Given the description of an element on the screen output the (x, y) to click on. 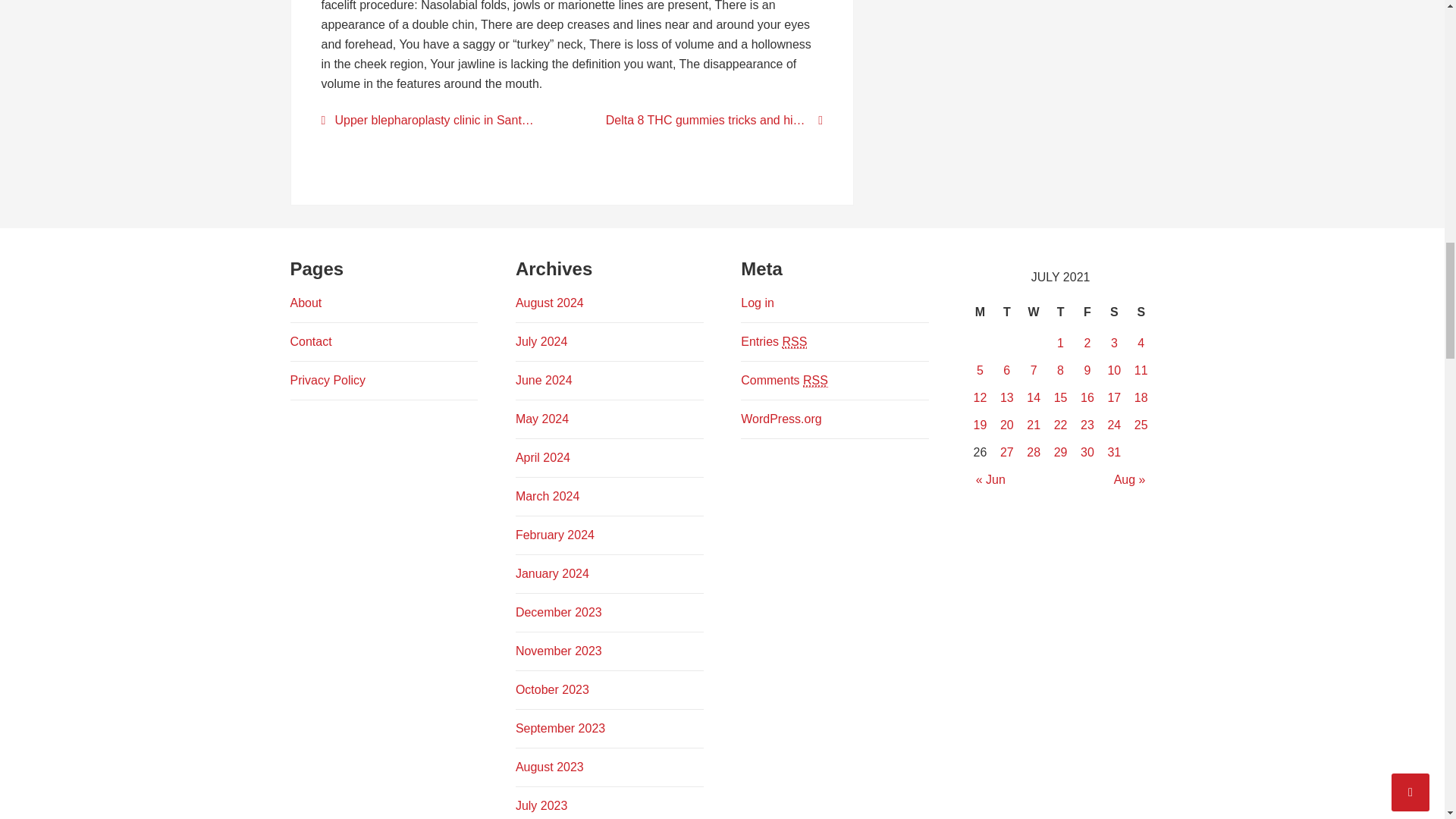
Really Simple Syndication (795, 341)
Really Simple Syndication (815, 380)
